Given the description of an element on the screen output the (x, y) to click on. 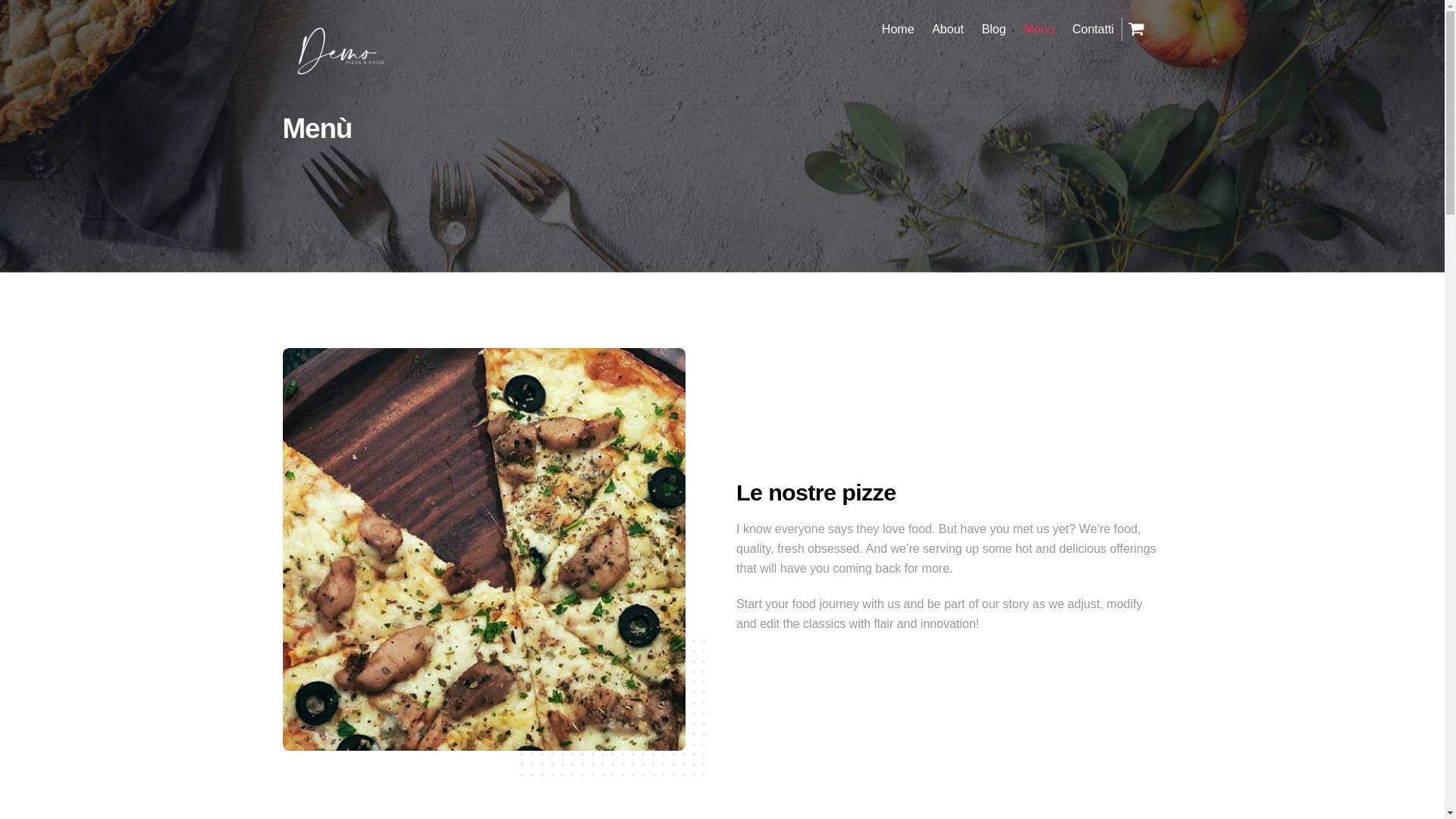
About (947, 28)
demo (339, 76)
Contatti (1092, 28)
Home (898, 28)
Menu (1038, 28)
Blog (993, 28)
